Given the description of an element on the screen output the (x, y) to click on. 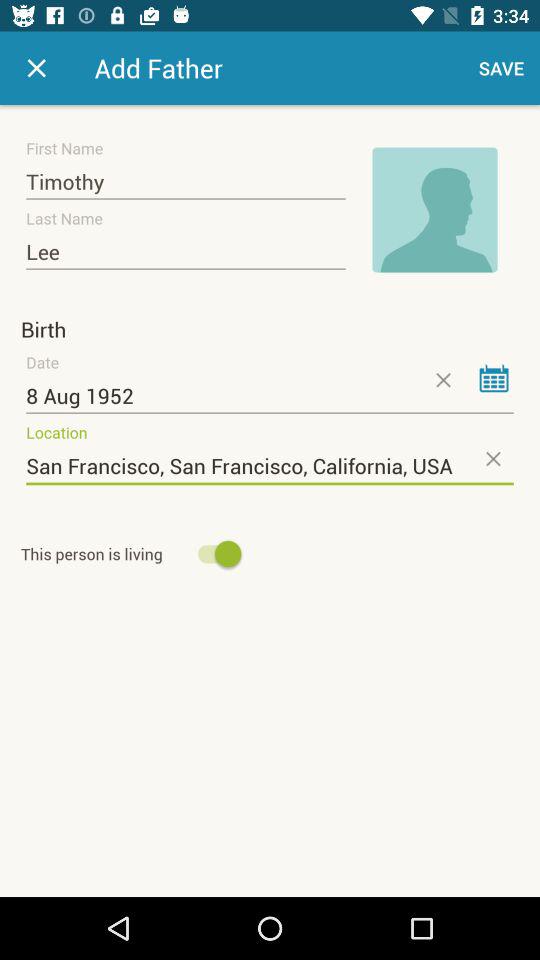
choose item above lee (185, 182)
